Given the description of an element on the screen output the (x, y) to click on. 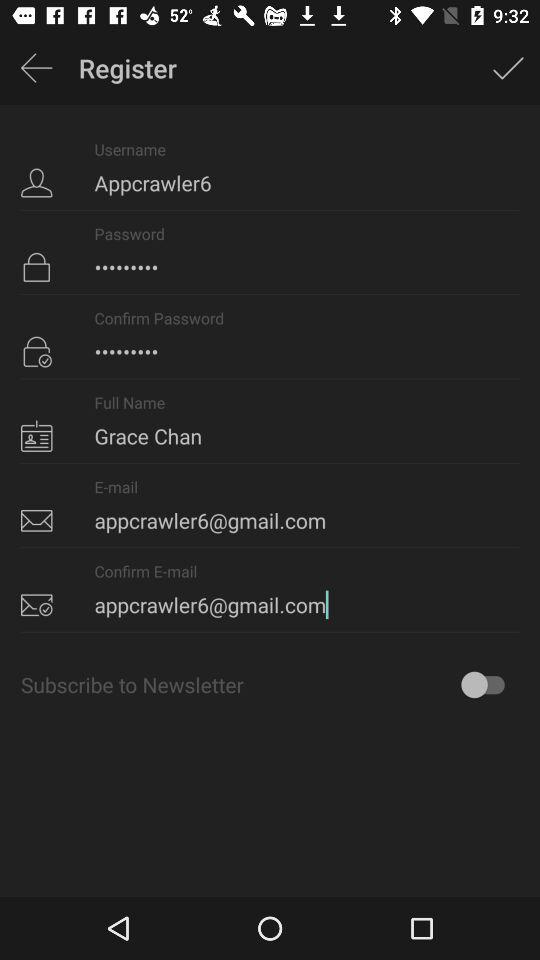
open the subscribe to newsletter icon (270, 684)
